Given the description of an element on the screen output the (x, y) to click on. 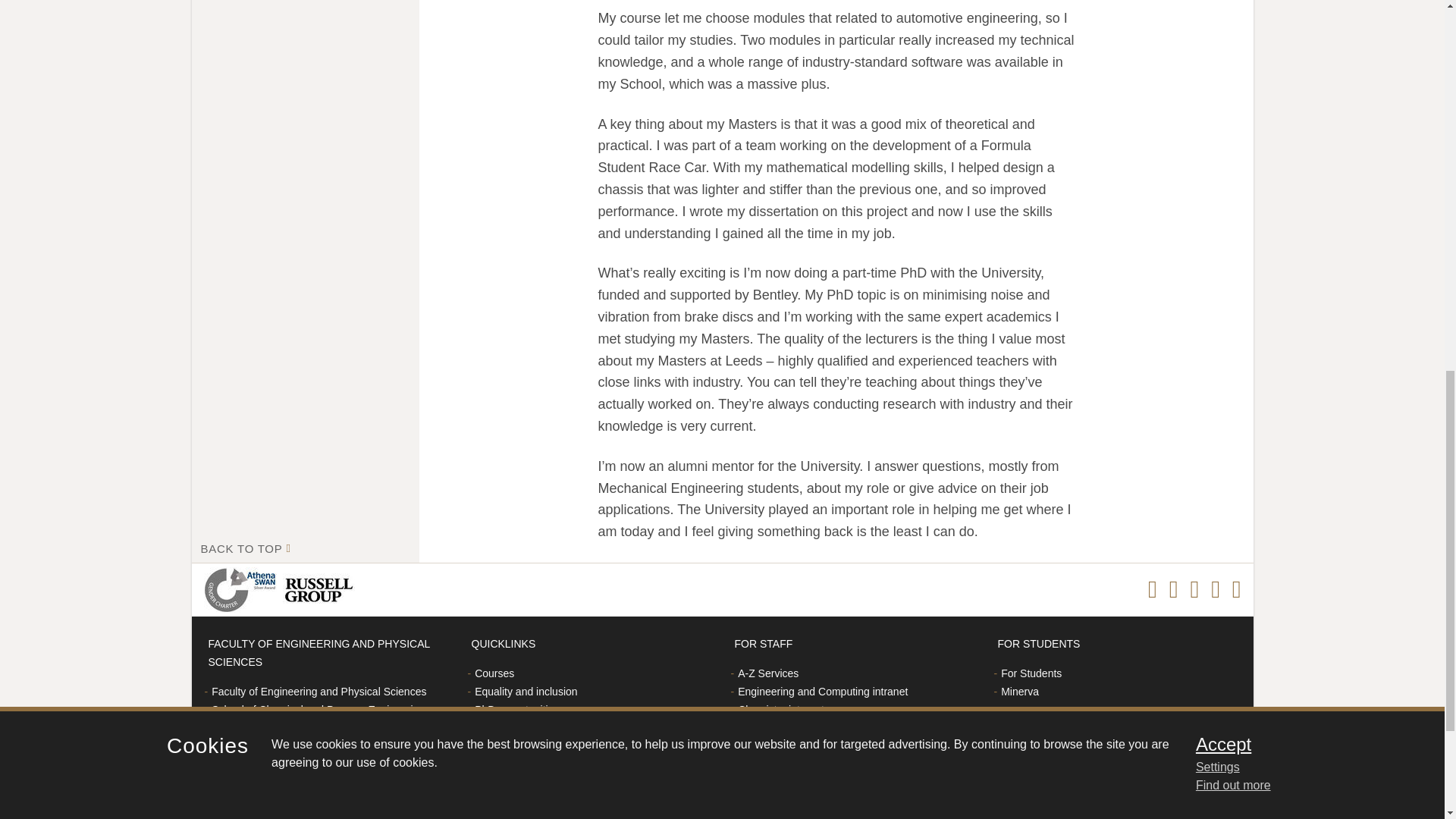
Go to Twitter page (1193, 589)
Go to YouTube page (1236, 589)
Go to Facebook page (1152, 589)
Visit Russell Group (320, 589)
Visit Athena SWAN Silver award (242, 589)
Go to Weibo page (1215, 589)
Go to Instagram page (1173, 589)
